Given the description of an element on the screen output the (x, y) to click on. 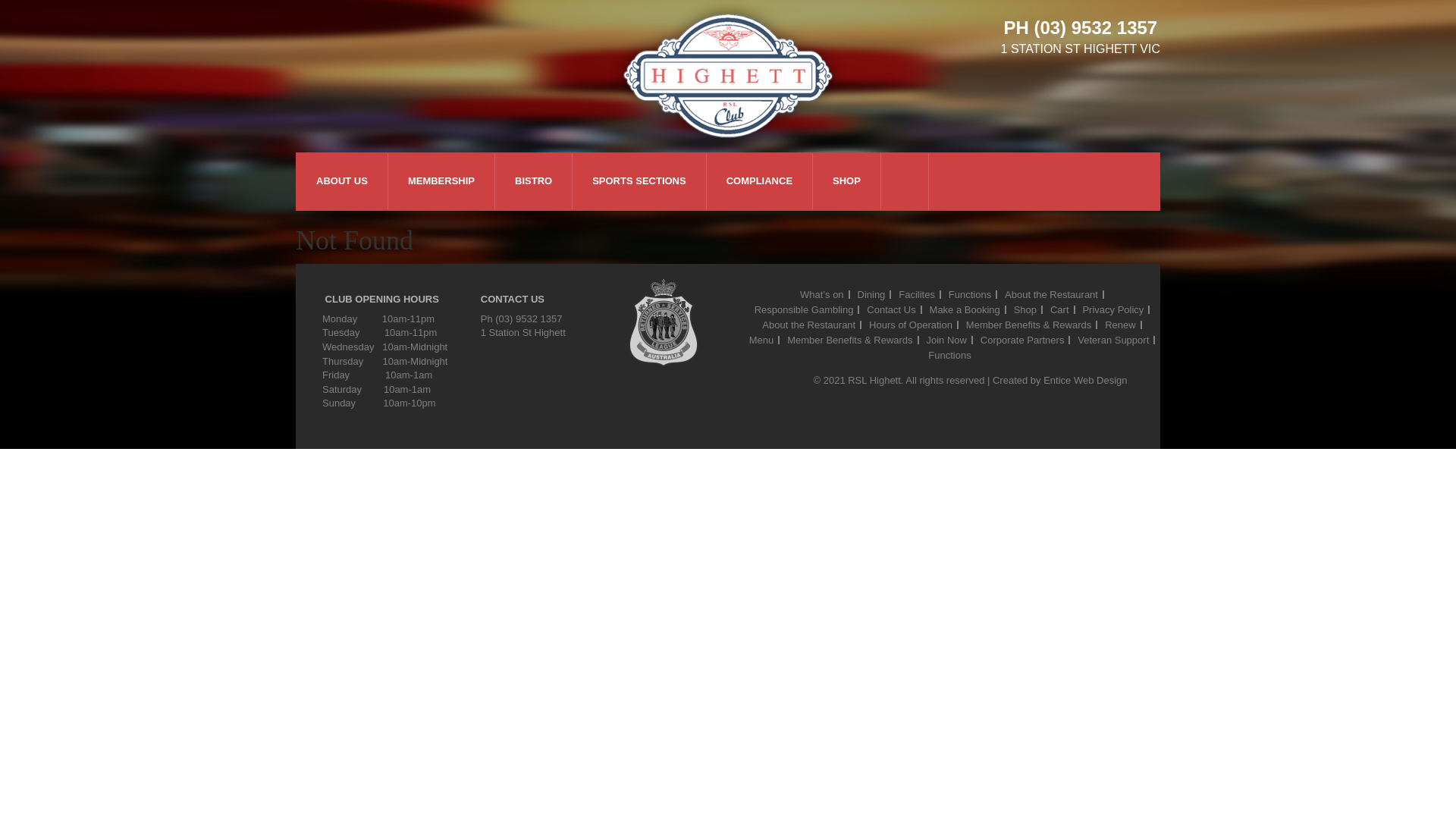
Functions Element type: text (949, 354)
Renew Element type: text (1119, 324)
SPORTS SECTIONS Element type: text (639, 181)
Responsible Gambling Element type: text (803, 309)
BISTRO Element type: text (533, 181)
About the Restaurant Element type: text (808, 324)
Contact Us Element type: text (890, 309)
About the Restaurant Element type: text (1051, 294)
Menu Element type: text (761, 339)
Corporate Partners Element type: text (1022, 339)
(03) 9532 1357 Element type: text (1095, 27)
Cart Element type: text (1059, 309)
SHOP Element type: text (846, 181)
Make a Booking Element type: text (964, 309)
Privacy Policy Element type: text (1112, 309)
Shop Element type: text (1024, 309)
Veteran Support Element type: text (1112, 339)
Join Now Element type: text (945, 339)
Facilites Element type: text (916, 294)
COMPLIANCE Element type: text (759, 181)
Hours of Operation Element type: text (910, 324)
Member Benefits & Rewards Element type: text (1028, 324)
ABOUT US Element type: text (341, 181)
Dining Element type: text (870, 294)
(03) 9532 1357 Element type: text (528, 318)
Functions Element type: text (969, 294)
Member Benefits & Rewards Element type: text (849, 339)
MEMBERSHIP Element type: text (441, 181)
